Given the description of an element on the screen output the (x, y) to click on. 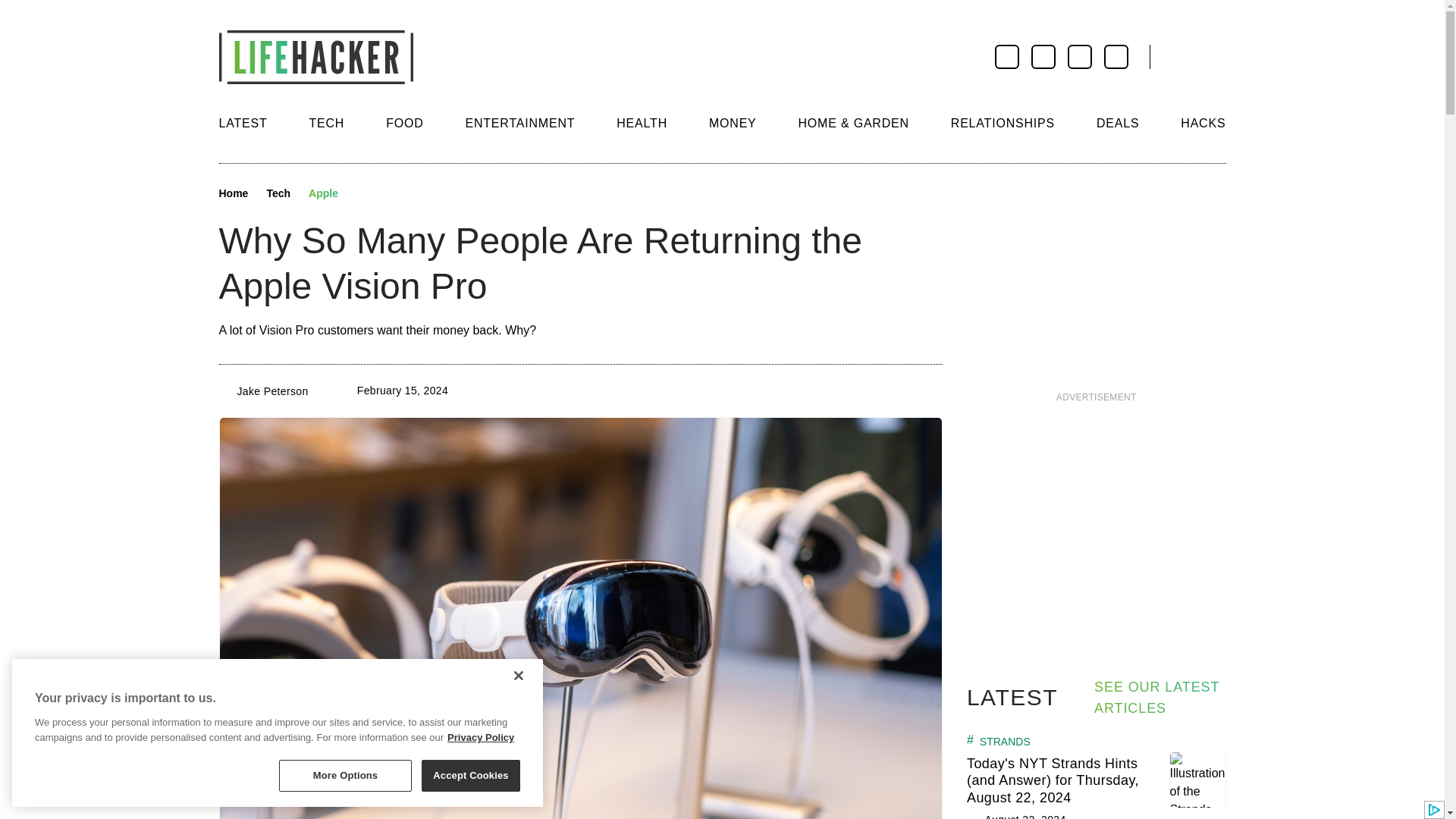
Home (232, 193)
LATEST (242, 123)
ENTERTAINMENT (519, 123)
HEALTH (640, 123)
Tech (277, 193)
Social Share (363, 193)
RELATIONSHIPS (1002, 123)
MONEY (733, 123)
FOOD (404, 123)
Apple (322, 193)
